Given the description of an element on the screen output the (x, y) to click on. 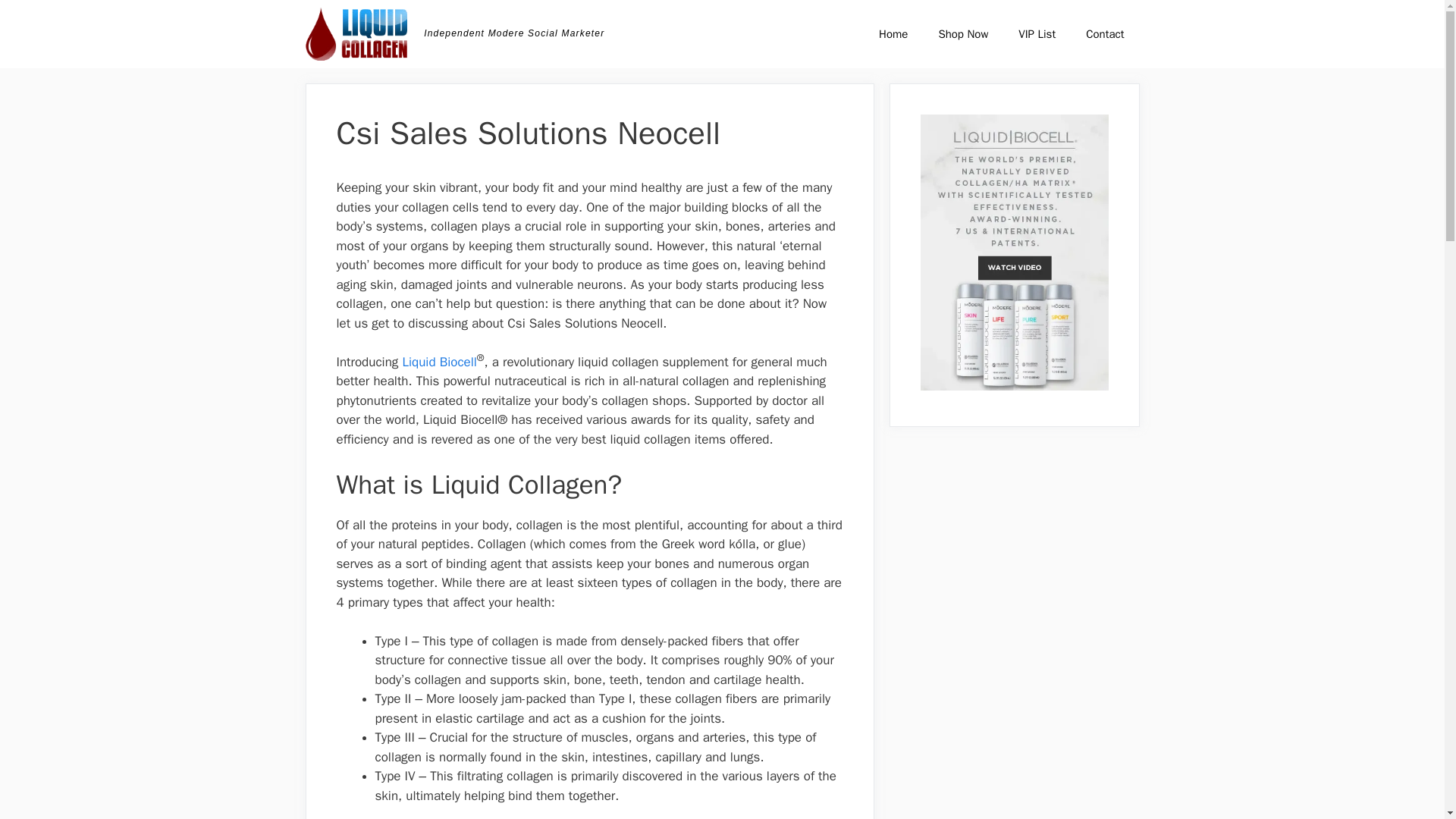
Shop Now (963, 33)
BestLiquidCollagen.com (359, 33)
BestLiquidCollagen.com (355, 33)
Liquid Biocell (438, 361)
Contact (1104, 33)
Home (893, 33)
VIP List (1036, 33)
